Given the description of an element on the screen output the (x, y) to click on. 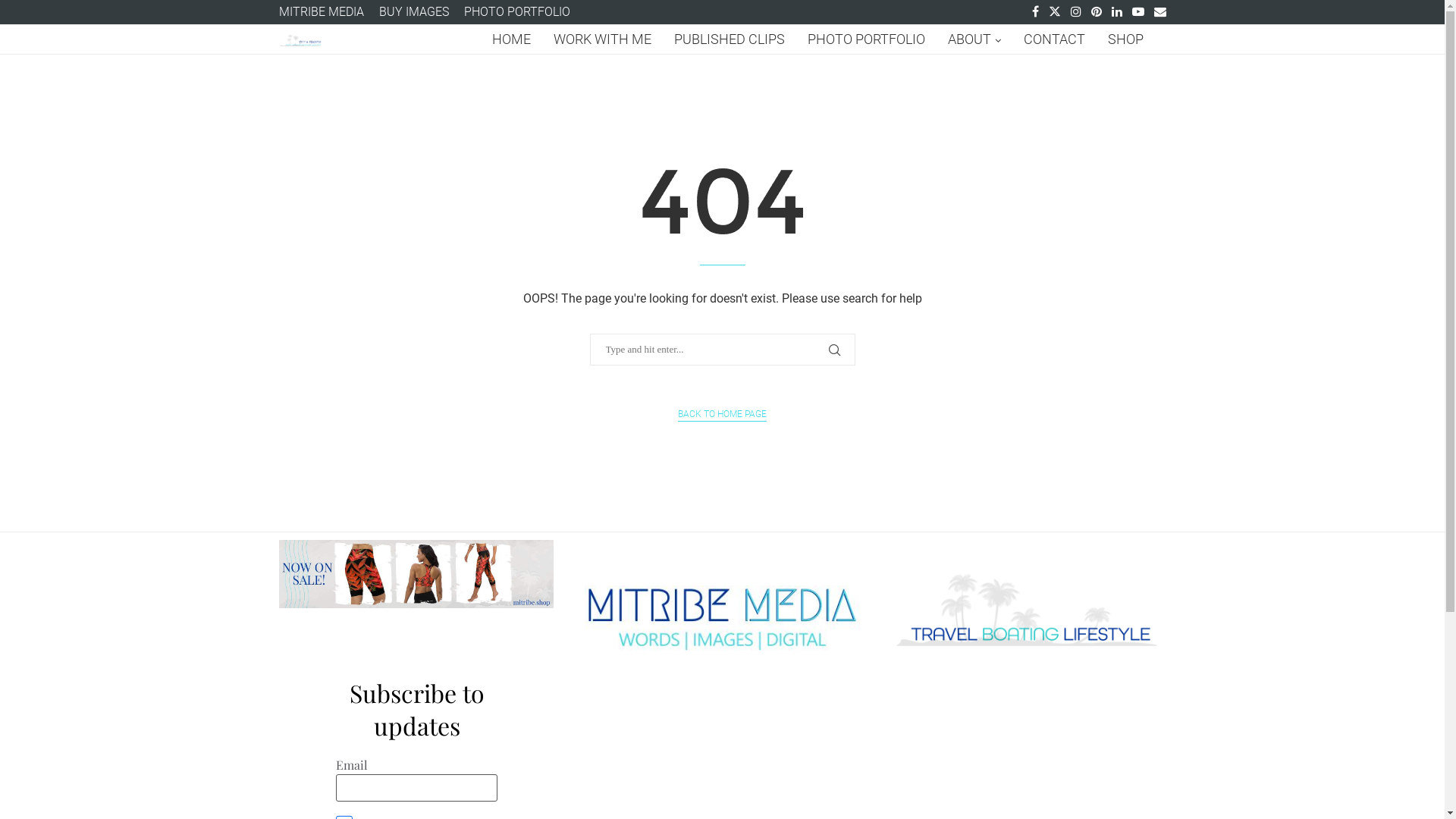
SHOP Element type: text (1124, 39)
Search Element type: text (33, 15)
PHOTO PORTFOLIO Element type: text (865, 39)
PUBLISHED CLIPS Element type: text (728, 39)
ABOUT Element type: text (974, 39)
CONTACT Element type: text (1054, 39)
HOME Element type: text (510, 39)
BACK TO HOME PAGE Element type: text (721, 414)
PHOTO PORTFOLIO Element type: text (517, 12)
MITRIBE MEDIA Element type: text (321, 12)
BUY IMAGES Element type: text (413, 12)
WORK WITH ME Element type: text (602, 39)
